Given the description of an element on the screen output the (x, y) to click on. 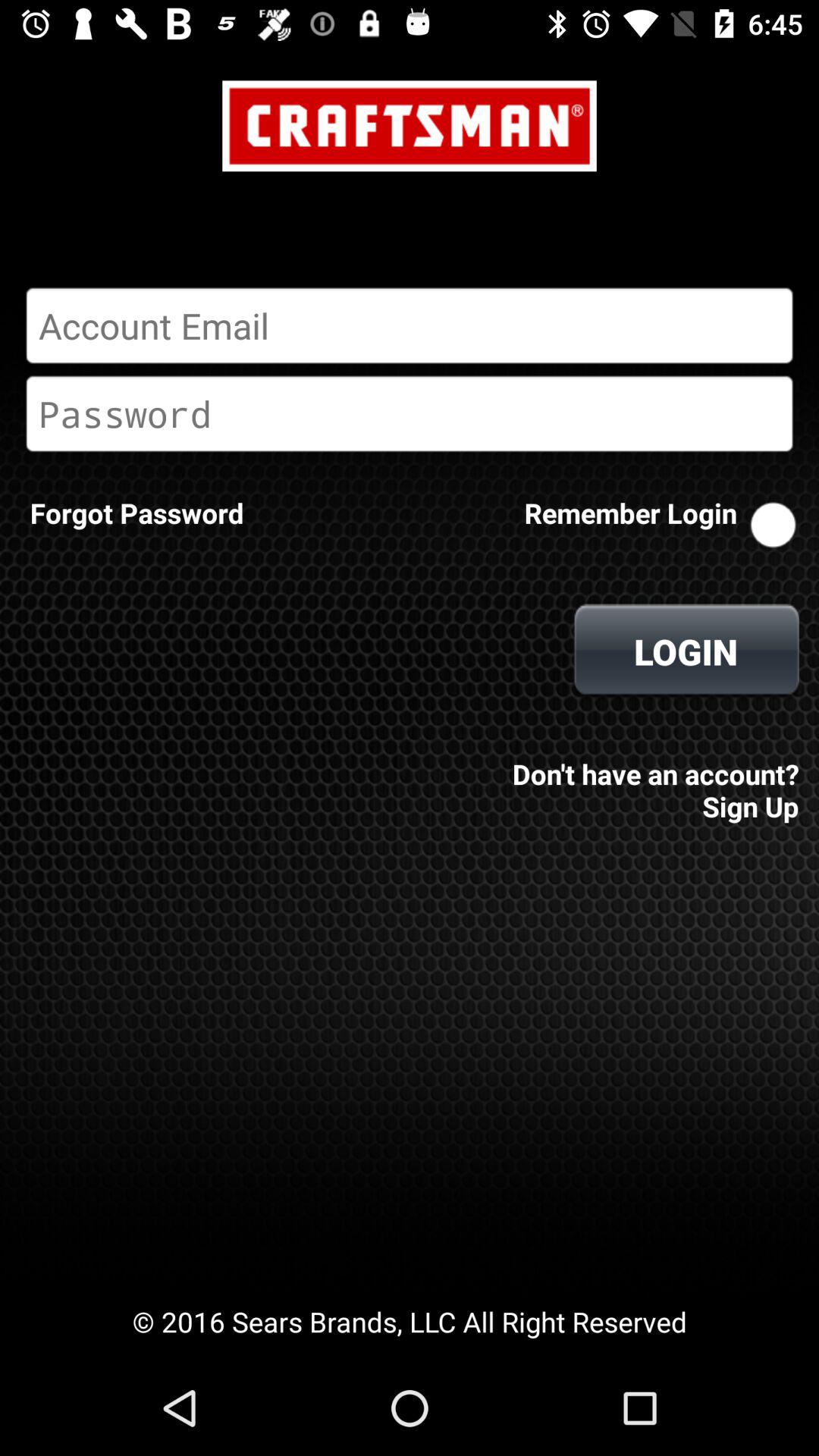
choose the icon above 2016 sears brands icon (136, 512)
